Given the description of an element on the screen output the (x, y) to click on. 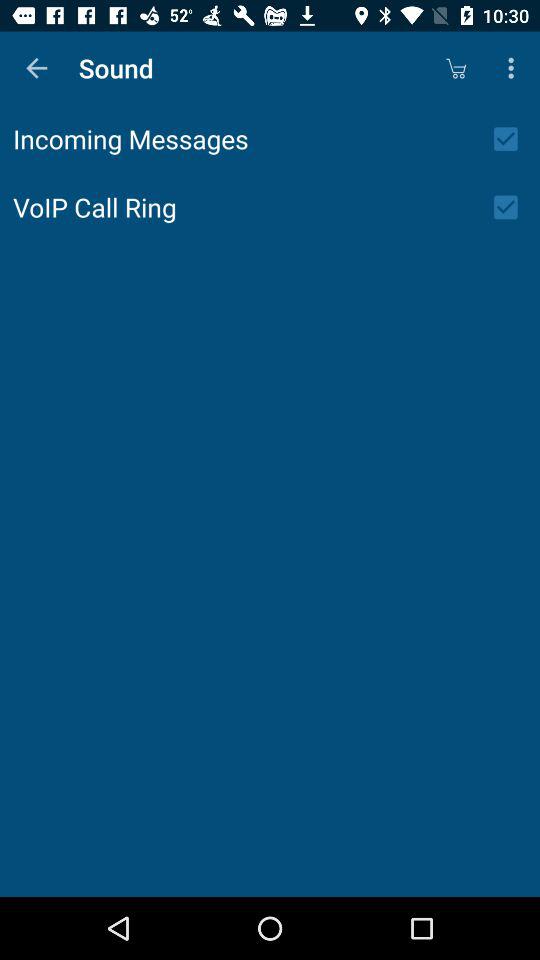
open icon next to the voip call ring icon (512, 207)
